Given the description of an element on the screen output the (x, y) to click on. 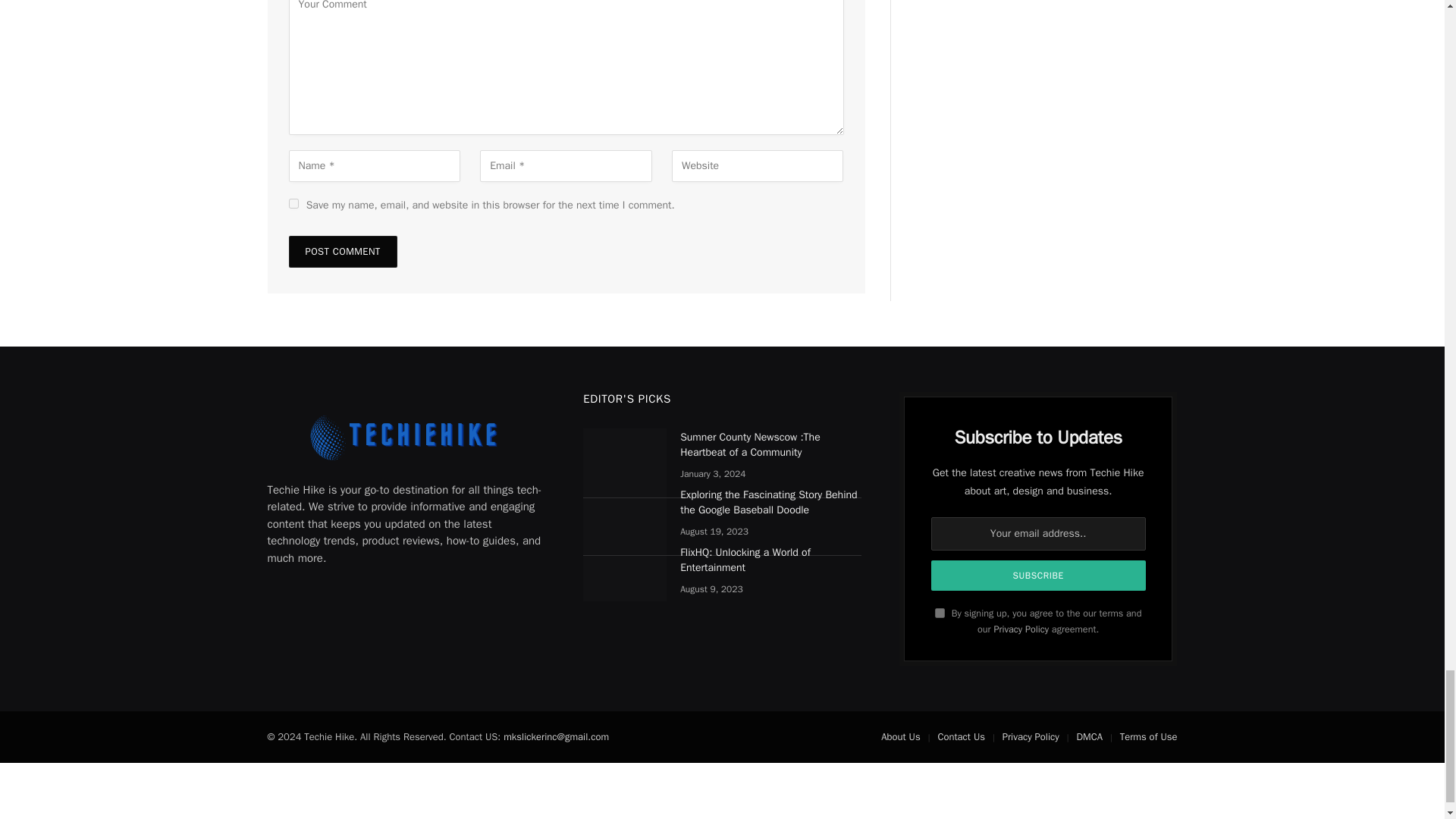
Subscribe (1038, 575)
on (939, 613)
yes (293, 203)
Post Comment (342, 251)
Post Comment (342, 251)
